Given the description of an element on the screen output the (x, y) to click on. 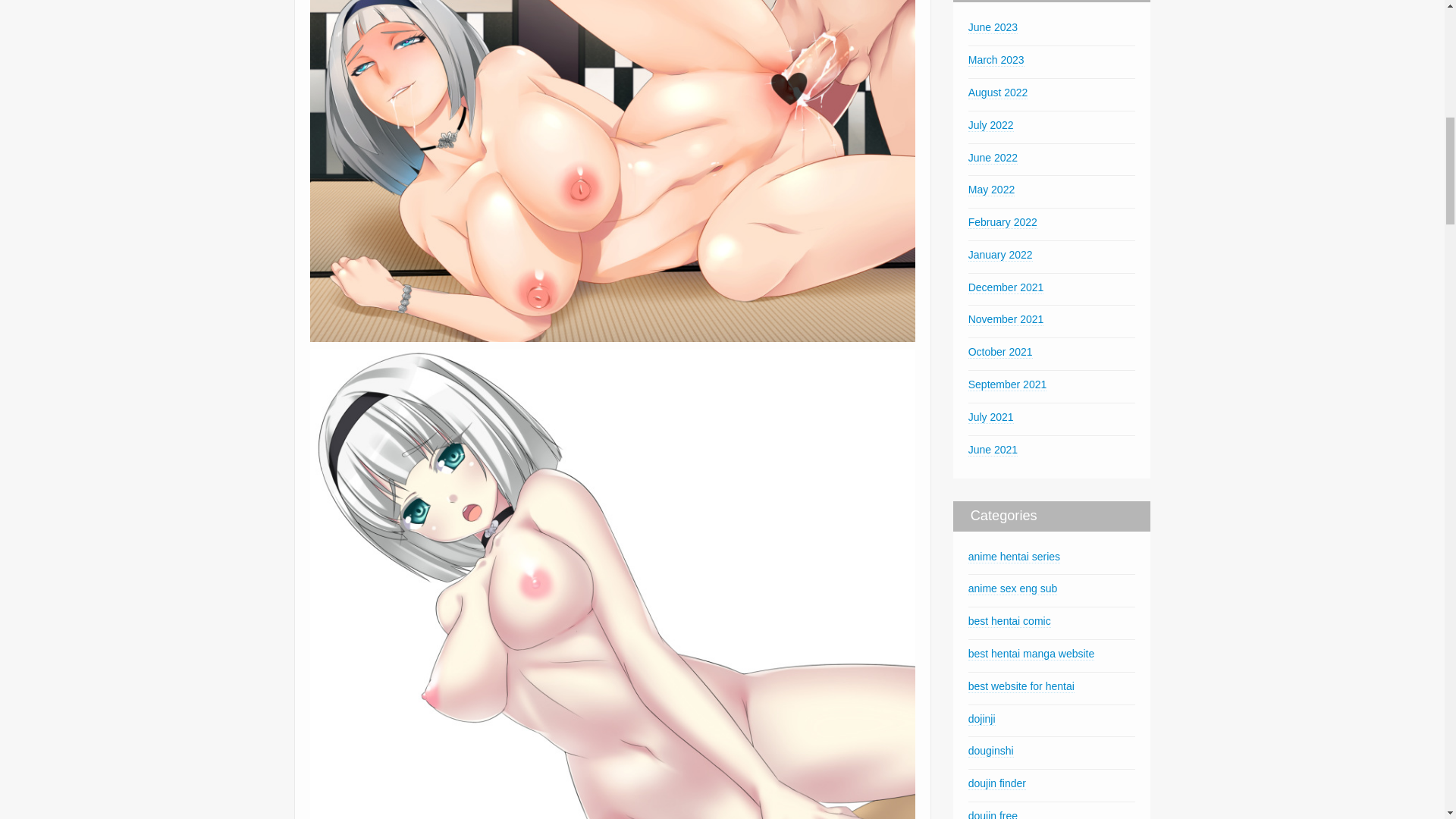
October 2021 (1000, 351)
November 2021 (1005, 318)
July 2022 (990, 124)
January 2022 (1000, 254)
May 2022 (991, 189)
June 2022 (992, 157)
March 2023 (996, 60)
August 2022 (997, 92)
July 2021 (990, 417)
June 2023 (992, 27)
February 2022 (1002, 222)
December 2021 (1005, 287)
September 2021 (1007, 384)
June 2021 (992, 449)
